Given the description of an element on the screen output the (x, y) to click on. 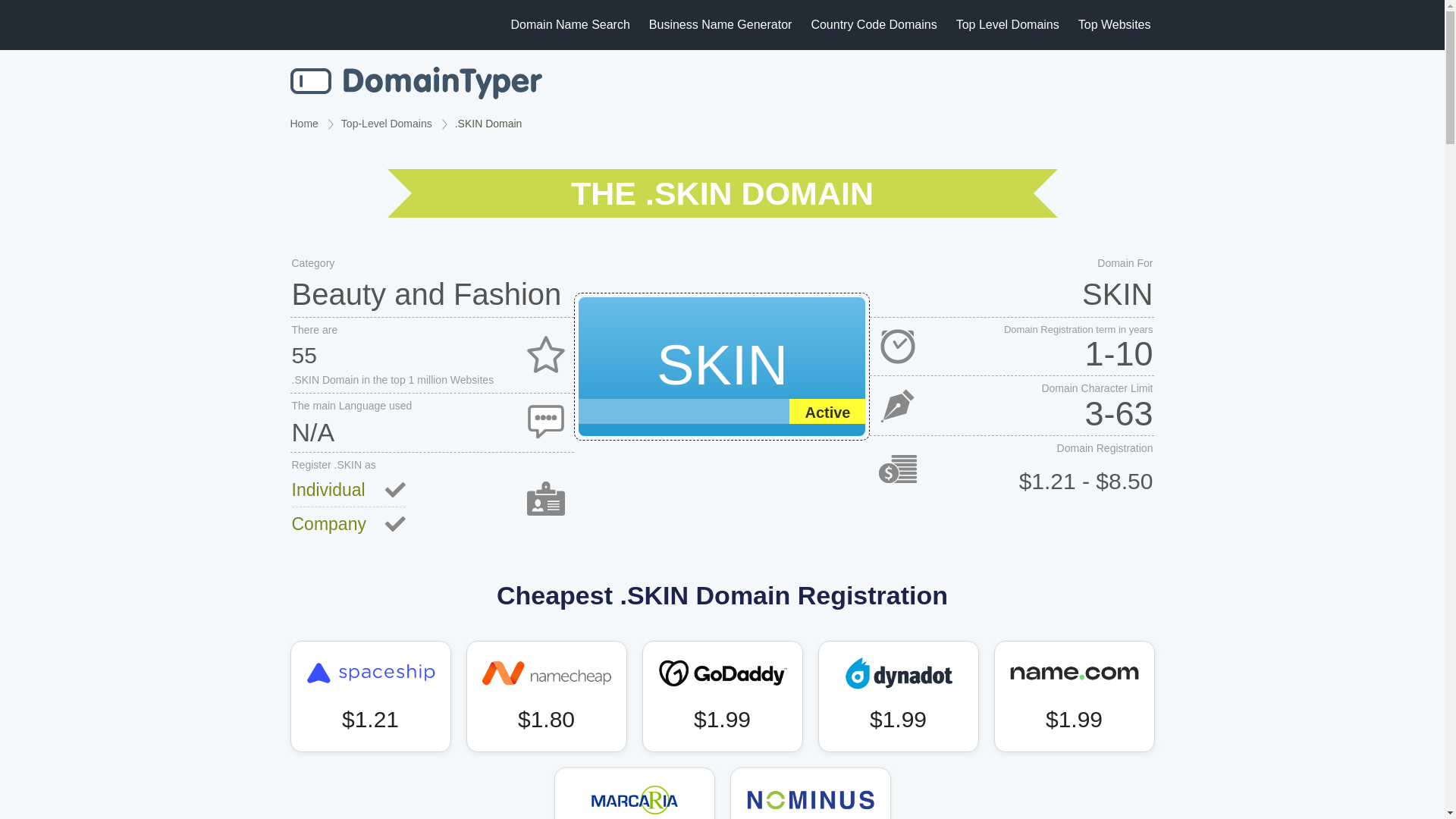
Country Code Domains (873, 24)
Domain Name Search (415, 82)
Top Level Domains (1008, 24)
Top Websites (1114, 24)
Business Name Generator (720, 24)
Home (303, 123)
Beauty and Fashion (431, 293)
Domain Name Search (569, 24)
Top-Level Domains (386, 123)
